Given the description of an element on the screen output the (x, y) to click on. 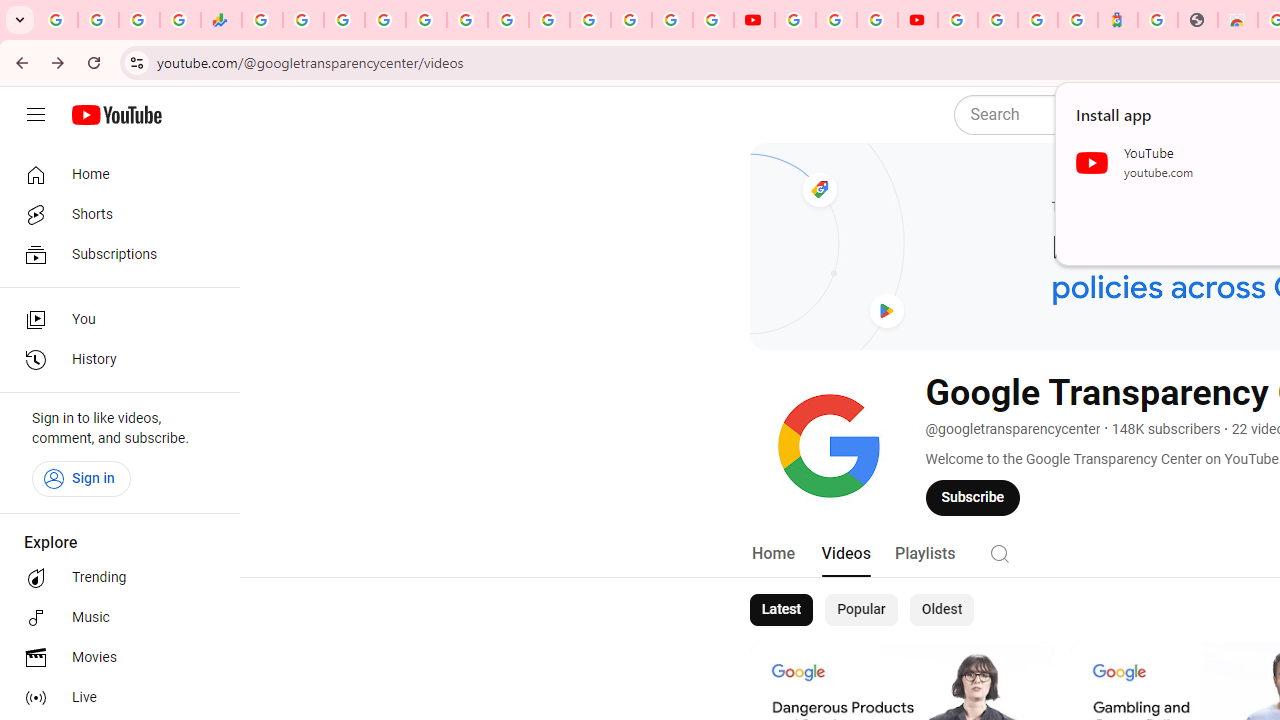
Guide (35, 115)
Privacy Checkup (712, 20)
Music (113, 617)
Oldest (941, 609)
Playlists (924, 553)
Popular (861, 609)
Sign in - Google Accounts (384, 20)
Subscribe (973, 497)
YouTube (753, 20)
